Given the description of an element on the screen output the (x, y) to click on. 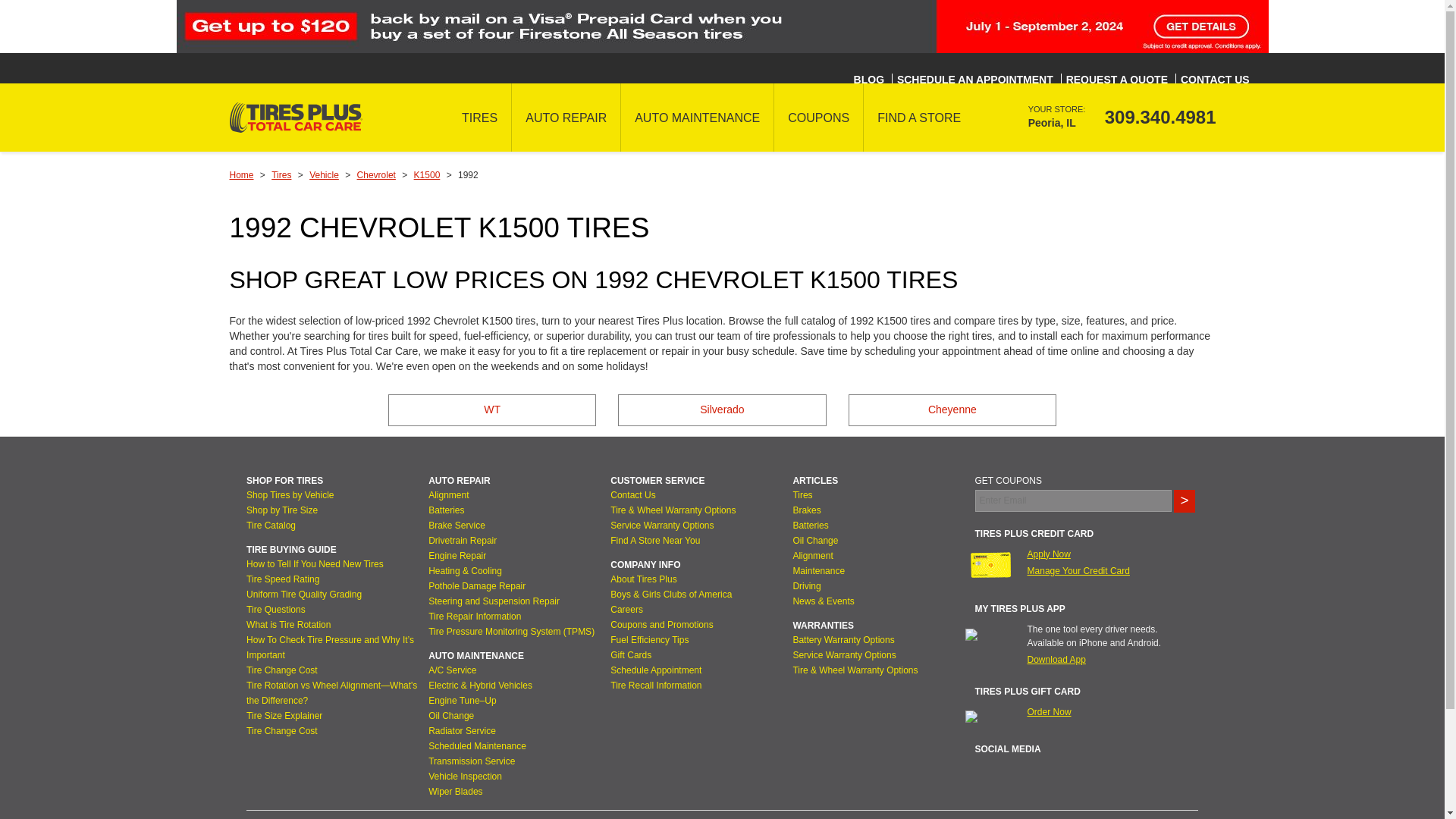
TIRES (479, 117)
AUTO REPAIR (566, 117)
BLOG (868, 79)
SCHEDULE AN APPOINTMENT (974, 79)
CONTACT US (1213, 79)
REQUEST A QUOTE (1116, 79)
Enter Email (1073, 500)
